Given the description of an element on the screen output the (x, y) to click on. 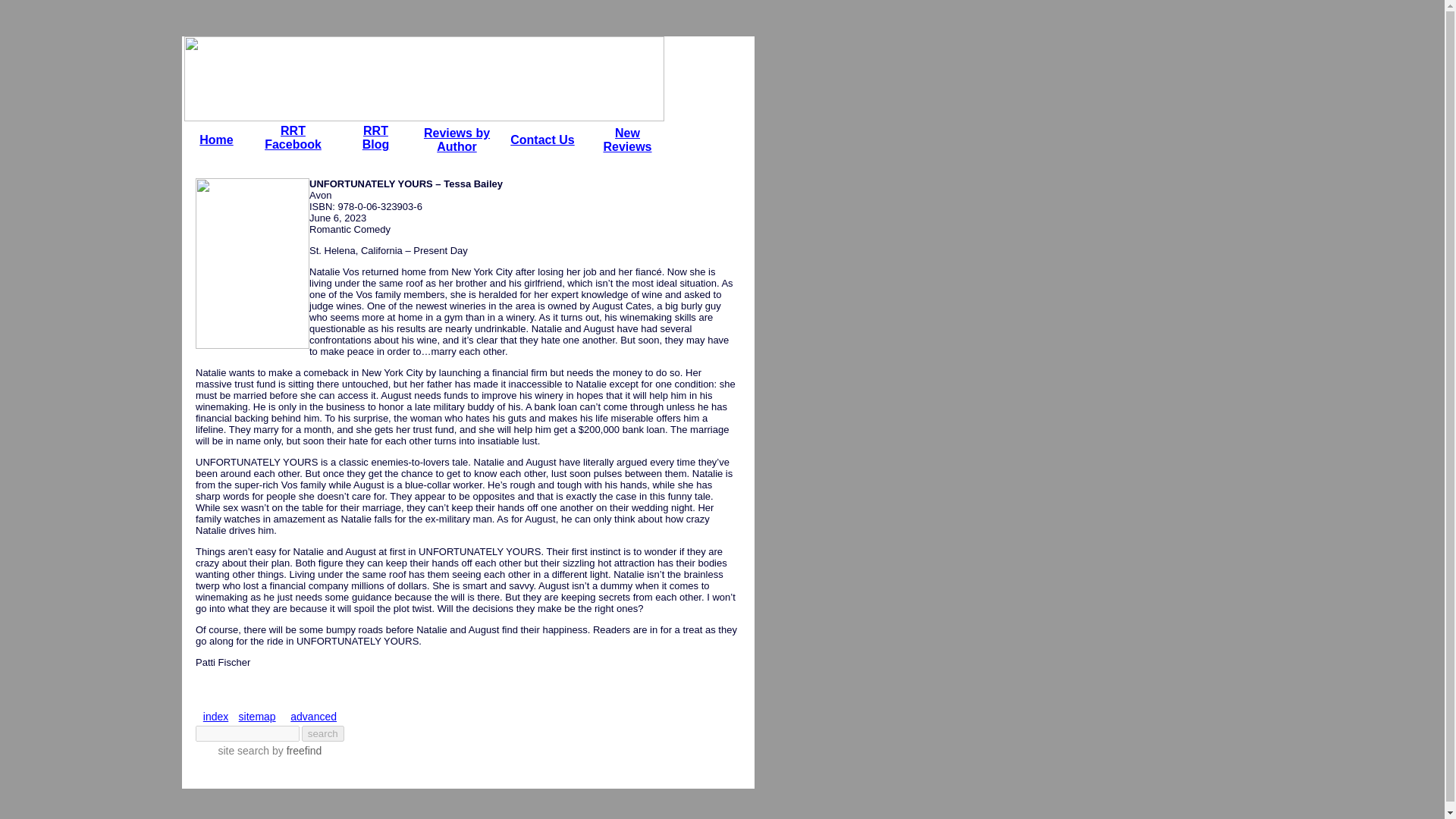
Home (215, 139)
search (322, 733)
sitemap (257, 716)
index (215, 716)
New Reviews (626, 139)
advanced (376, 137)
Reviews by Author (312, 716)
search (456, 139)
Contact Us (292, 137)
